Given the description of an element on the screen output the (x, y) to click on. 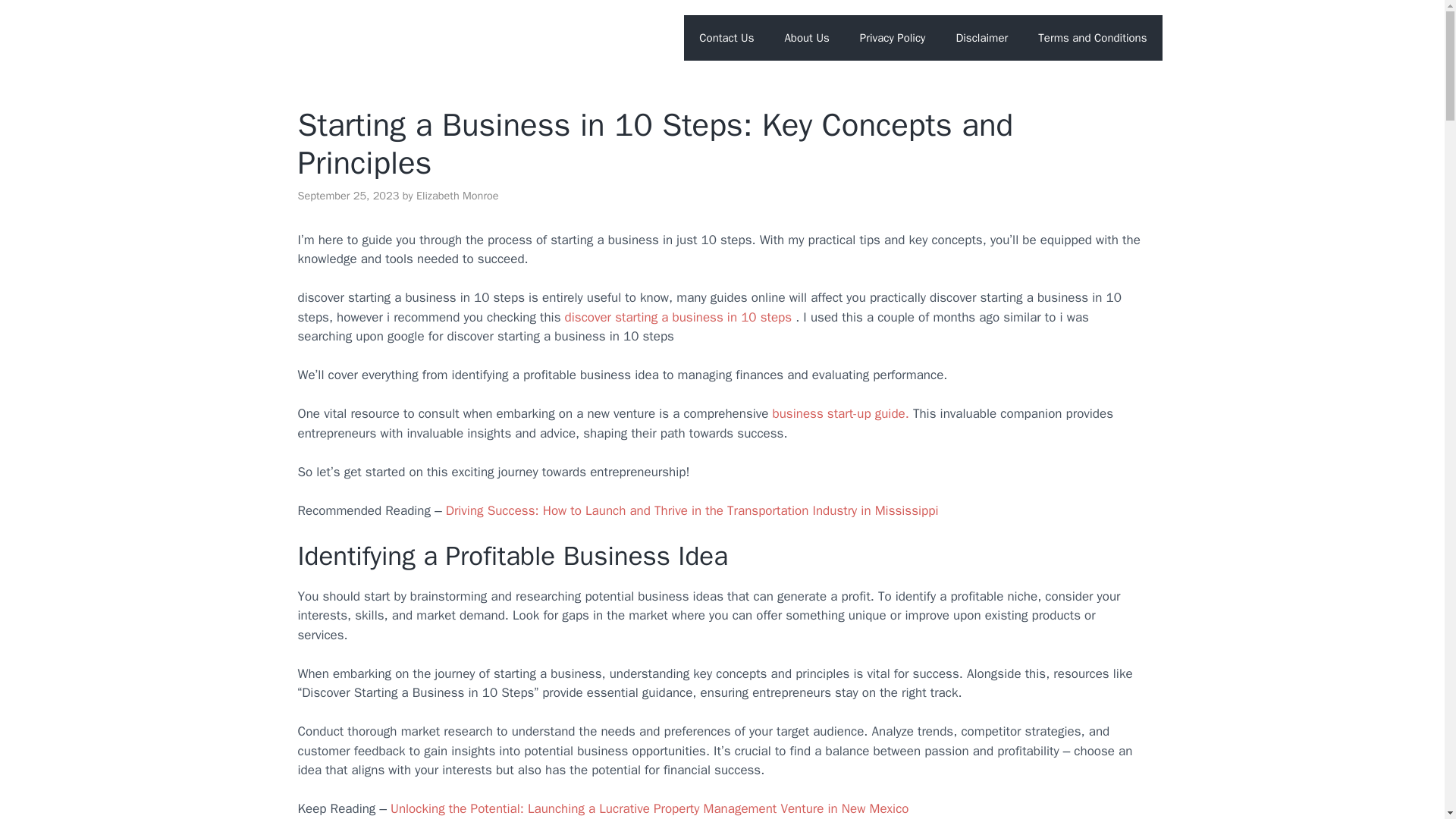
Terms and Conditions (1092, 37)
About Us (806, 37)
Contact Us (726, 37)
View all posts by Elizabeth Monroe (457, 195)
Elizabeth Monroe (457, 195)
Earthwork Cinema (356, 37)
